Given the description of an element on the screen output the (x, y) to click on. 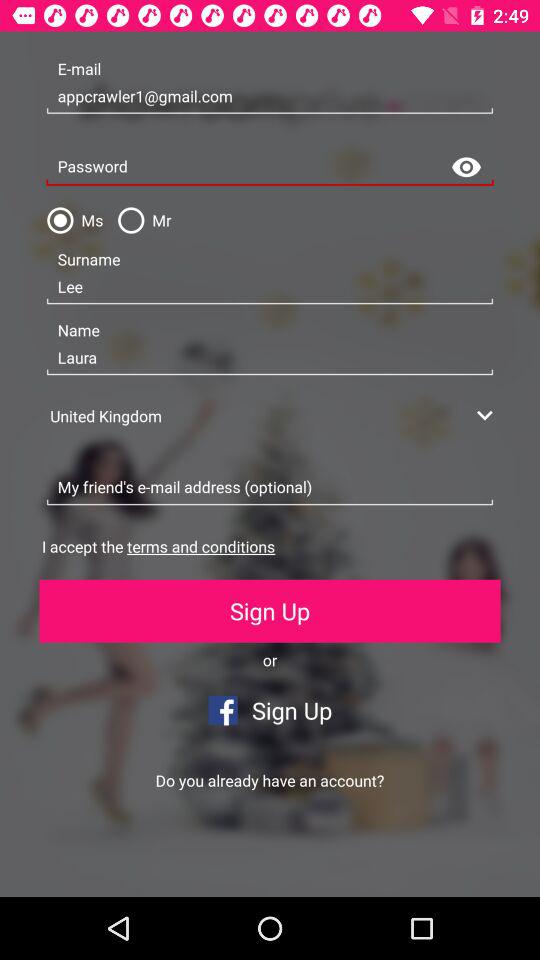
tap the icon to the left of the mr item (71, 220)
